Given the description of an element on the screen output the (x, y) to click on. 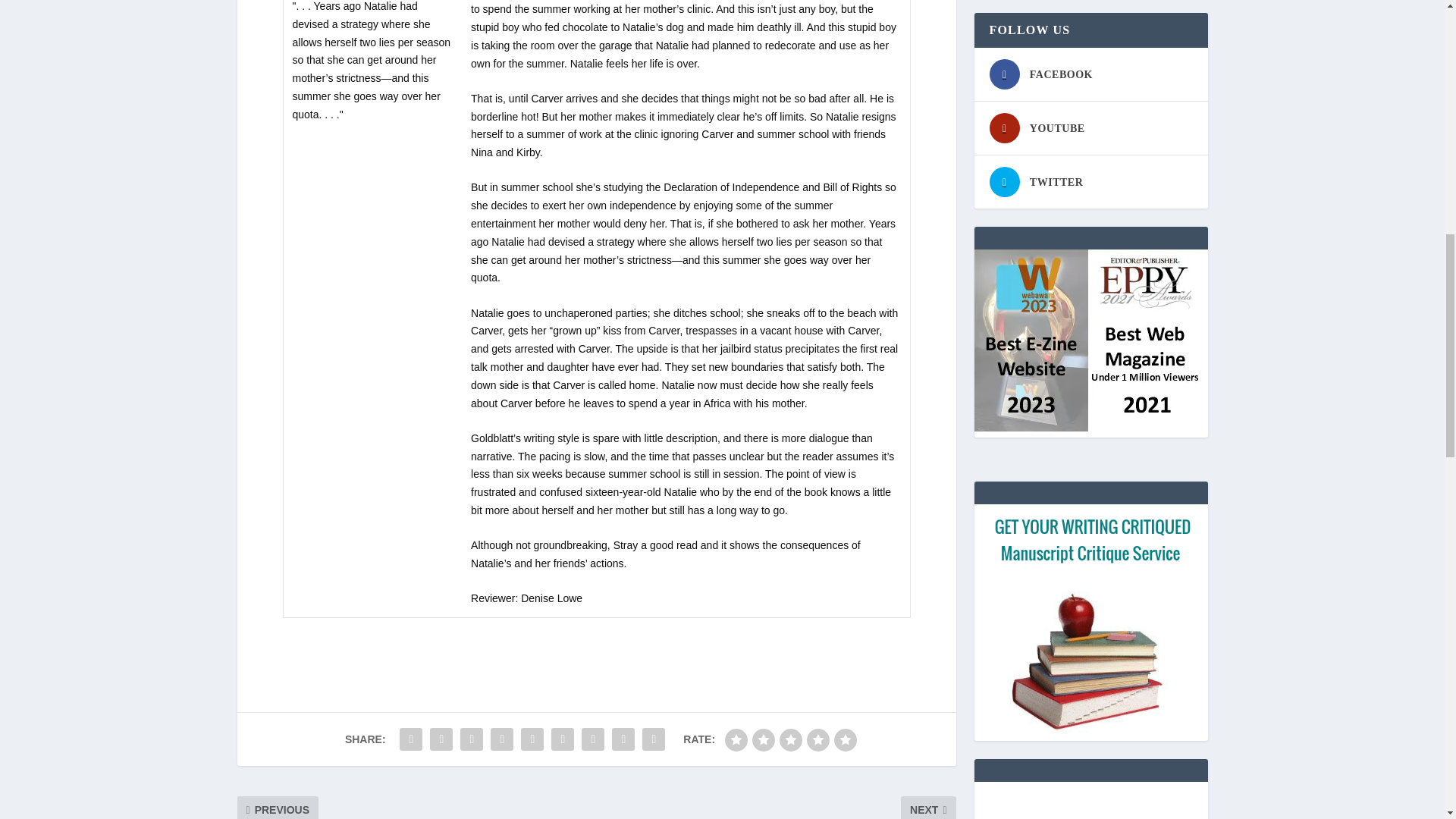
Share "Stray by Stacey Goldblatt" via Stumbleupon (593, 738)
Share "Stray by Stacey Goldblatt" via Facebook (411, 738)
Share "Stray by Stacey Goldblatt" via LinkedIn (531, 738)
Share "Stray by Stacey Goldblatt" via Twitter (441, 738)
Share "Stray by Stacey Goldblatt" via Tumblr (471, 738)
Share "Stray by Stacey Goldblatt" via Email (623, 738)
Share "Stray by Stacey Goldblatt" via Pinterest (501, 738)
Share "Stray by Stacey Goldblatt" via Buffer (562, 738)
